Given the description of an element on the screen output the (x, y) to click on. 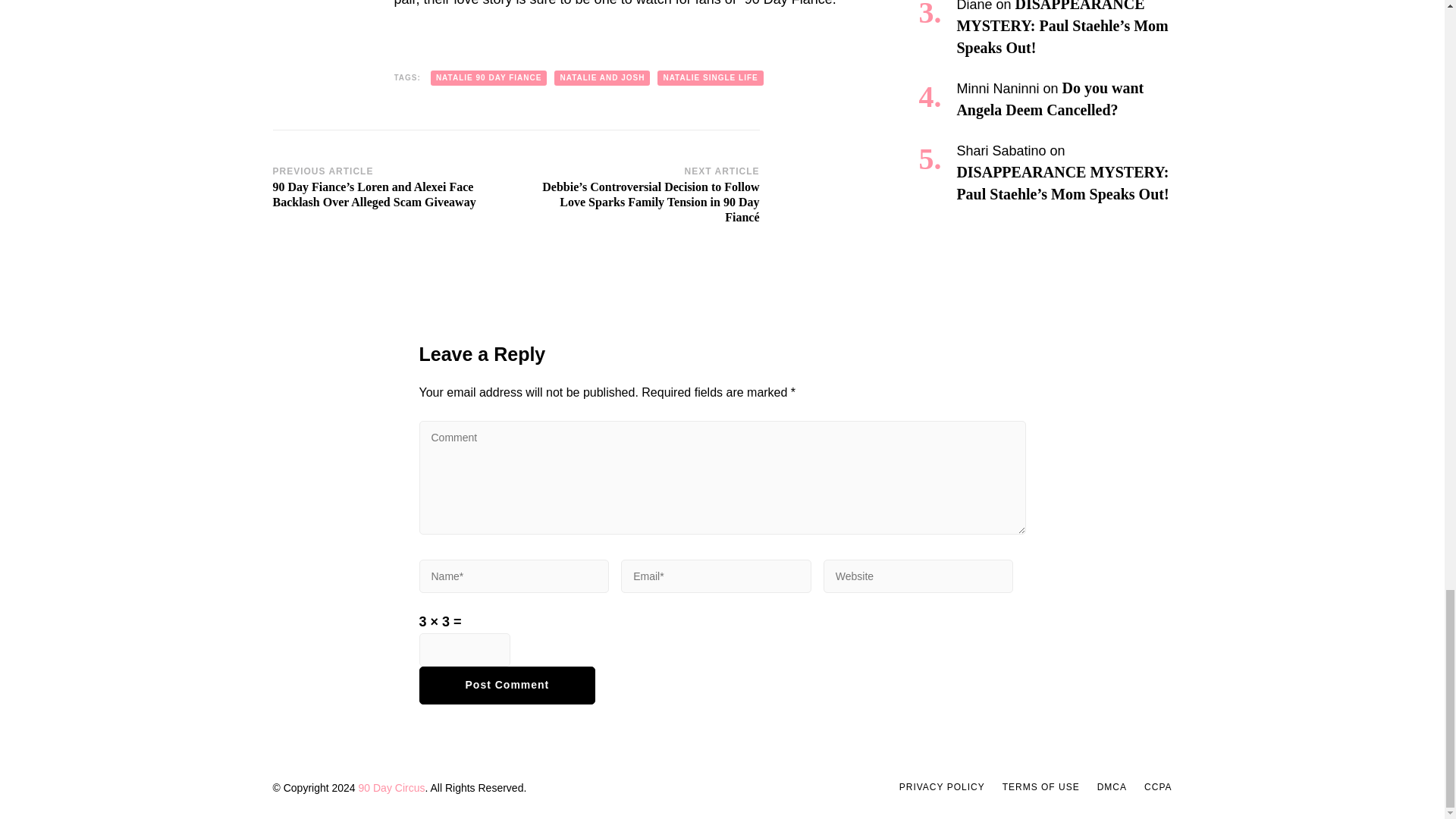
NATALIE AND JOSH (601, 77)
NATALIE SINGLE LIFE (710, 77)
Post Comment (507, 685)
NATALIE 90 DAY FIANCE (488, 77)
